Given the description of an element on the screen output the (x, y) to click on. 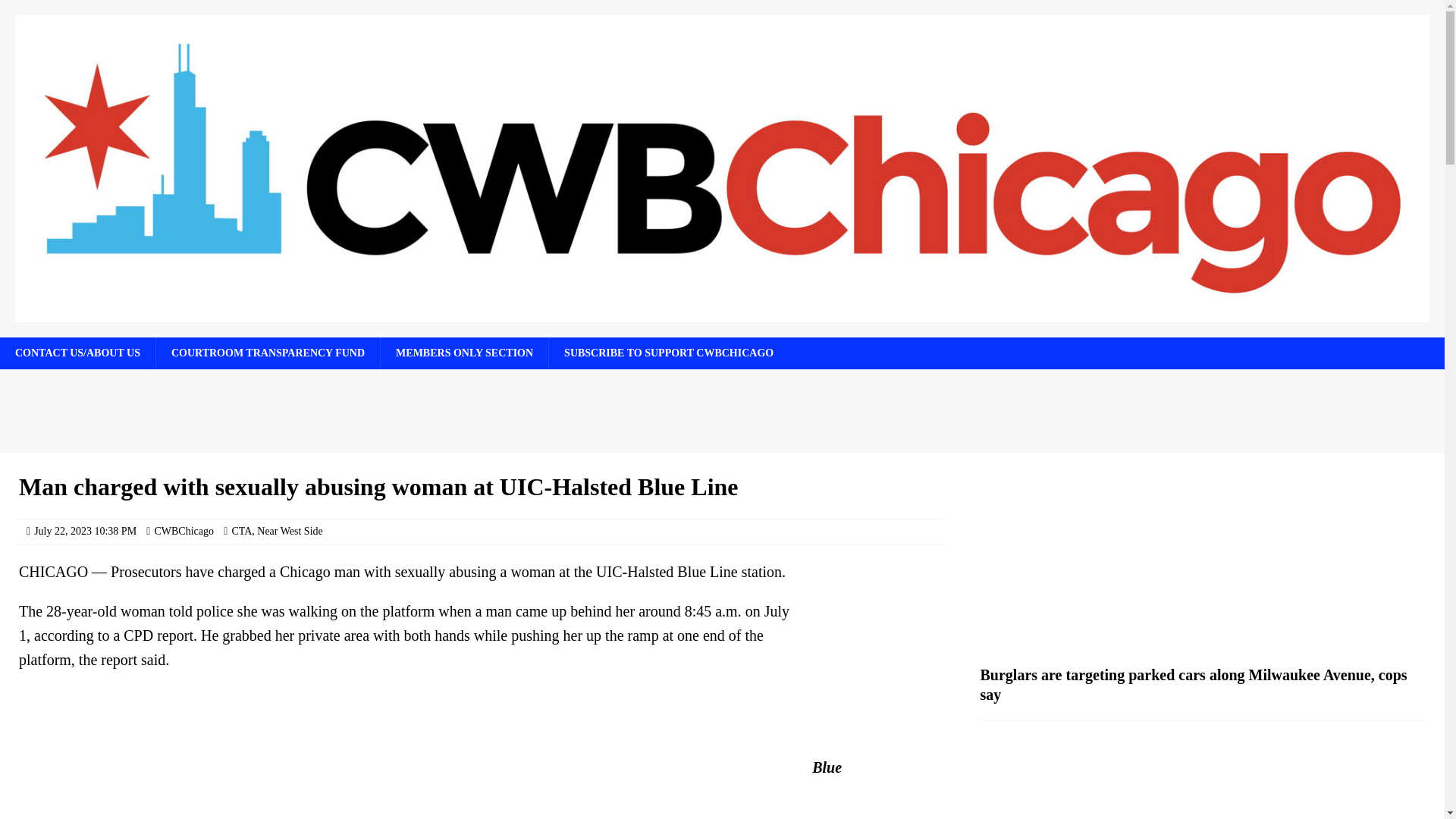
COURTROOM TRANSPARENCY FUND (267, 353)
CTA (241, 531)
MEMBERS ONLY SECTION (464, 353)
SUBSCRIBE TO SUPPORT CWBCHICAGO (668, 353)
Near West Side (289, 531)
CWBChicago (184, 531)
July 22, 2023 10:38 PM (84, 531)
